Given the description of an element on the screen output the (x, y) to click on. 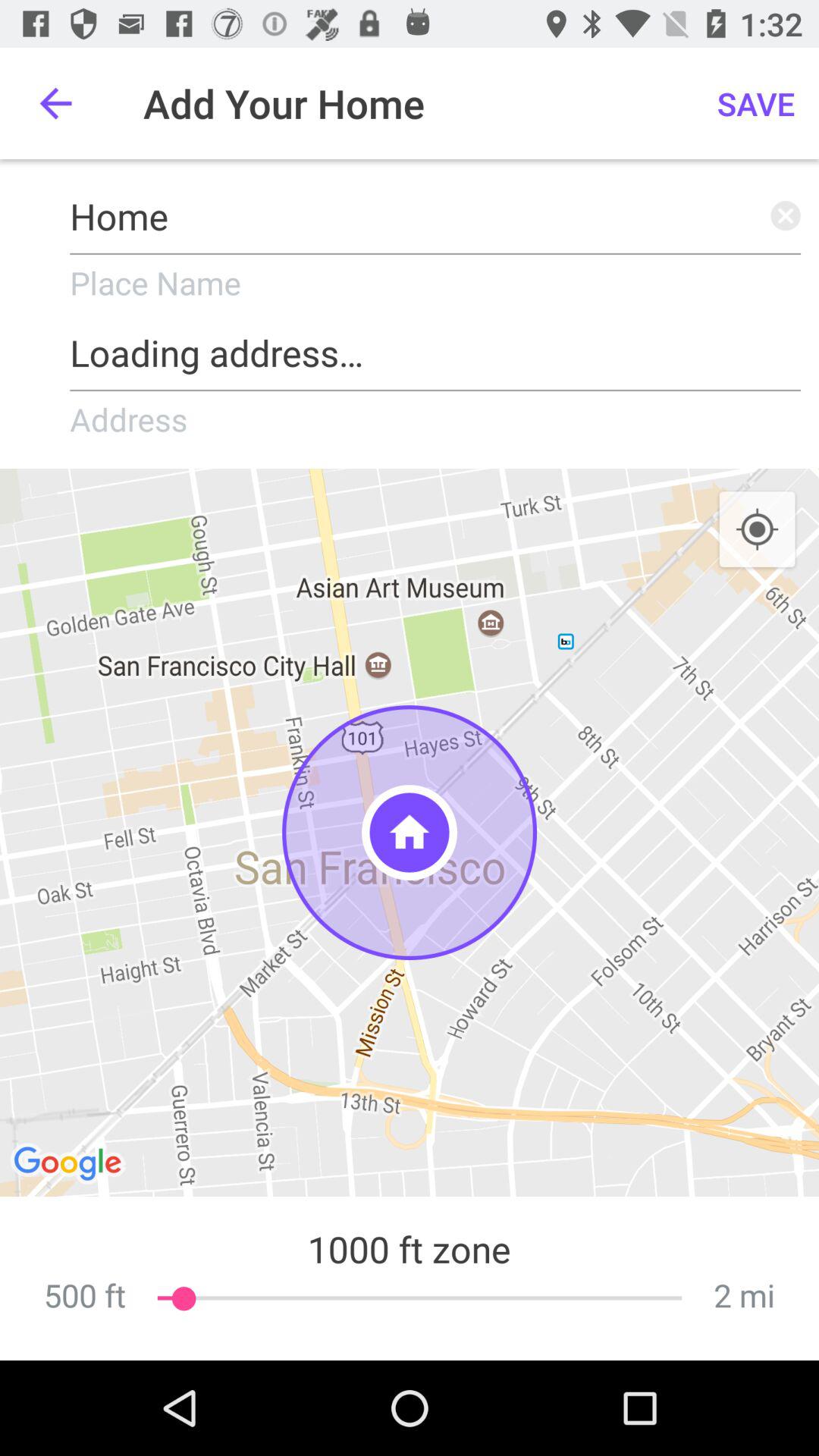
click the icon on the right (757, 530)
